Given the description of an element on the screen output the (x, y) to click on. 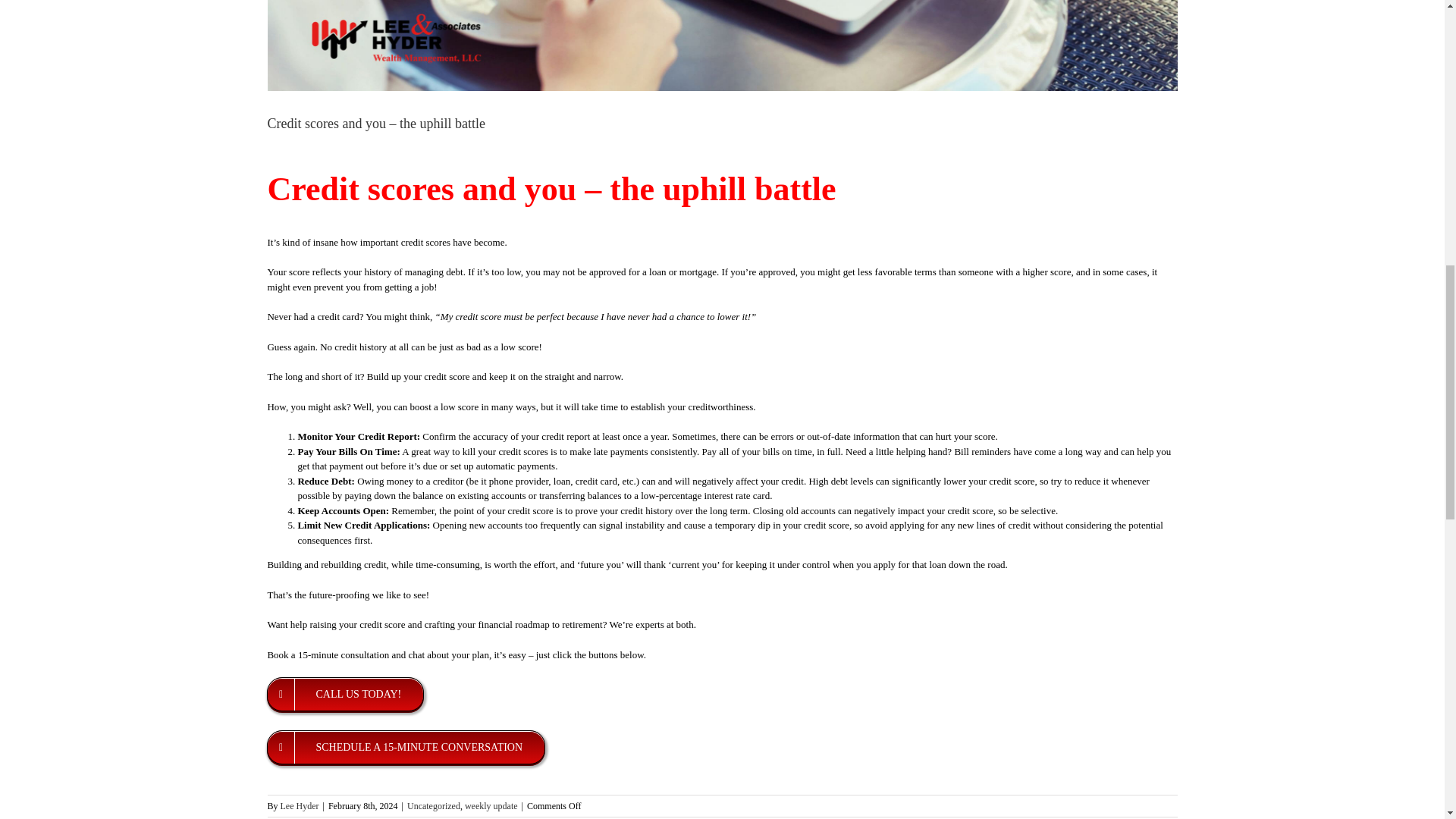
Lee Hyder (299, 805)
Posts by Lee Hyder (299, 805)
SCHEDULE A 15-MINUTE CONVERSATION (405, 747)
CALL US TODAY! (344, 694)
Uncategorized (433, 805)
View Larger Image (721, 45)
weekly update (491, 805)
